Given the description of an element on the screen output the (x, y) to click on. 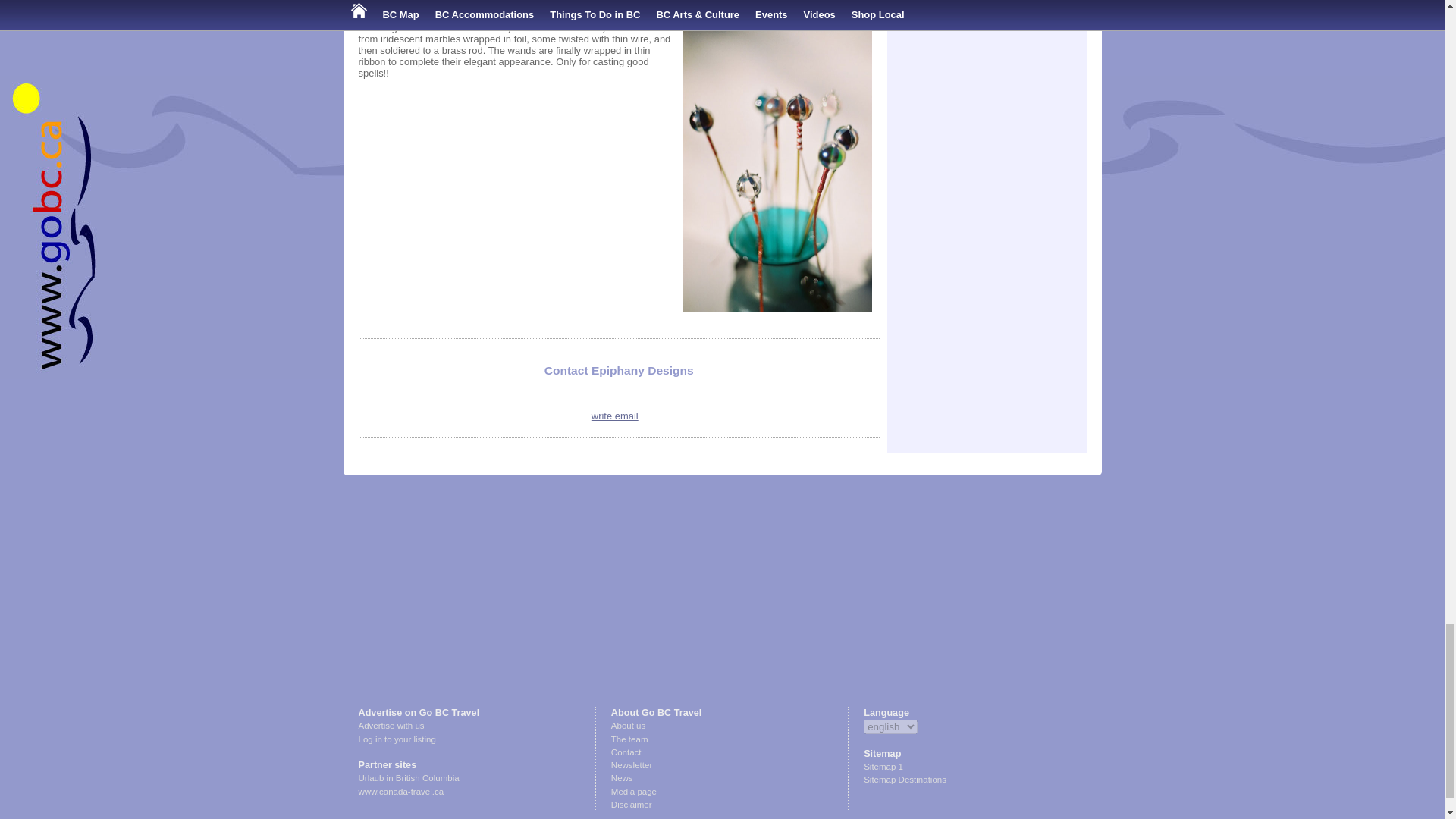
Advertise with us (390, 725)
Log in to your listing (396, 738)
write email (615, 415)
